Given the description of an element on the screen output the (x, y) to click on. 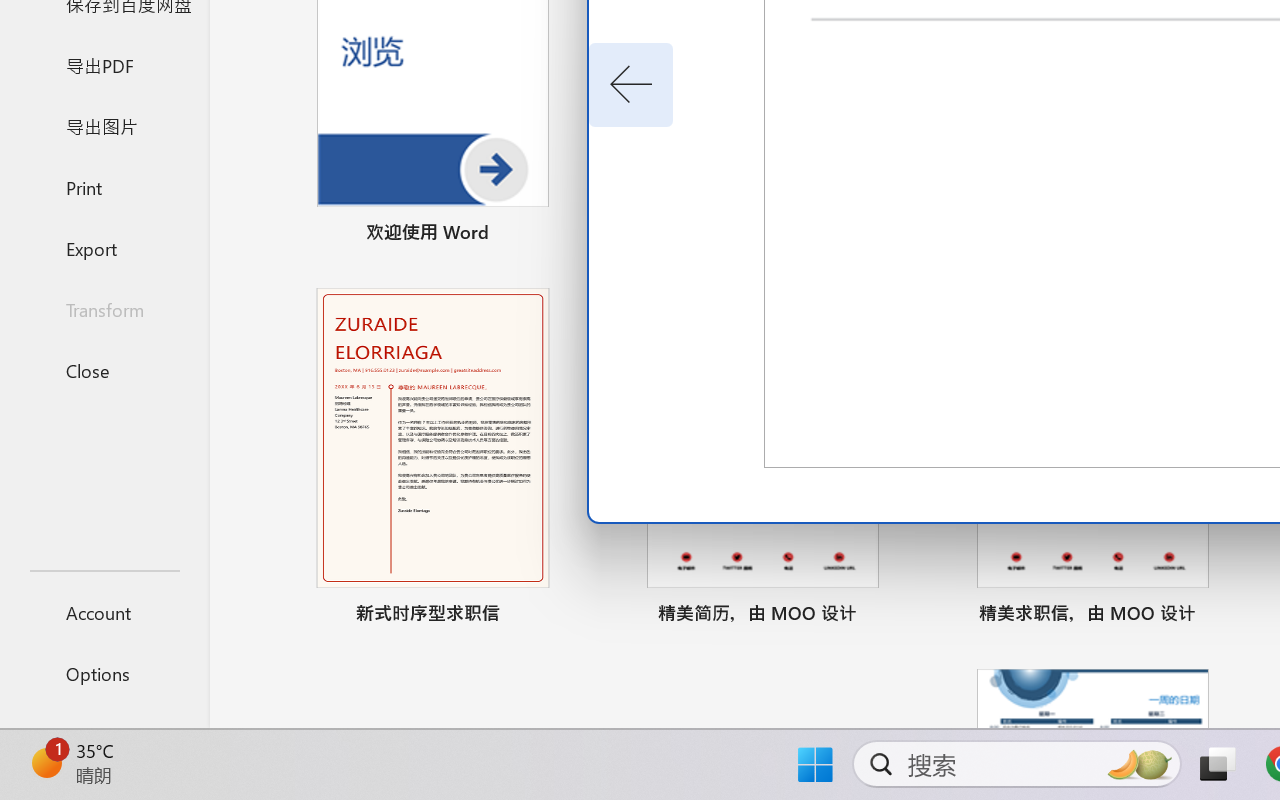
Options (104, 673)
Export (104, 248)
Print (104, 186)
Previous Template (630, 85)
Transform (104, 309)
Account (104, 612)
Pin to list (1223, 616)
